Given the description of an element on the screen output the (x, y) to click on. 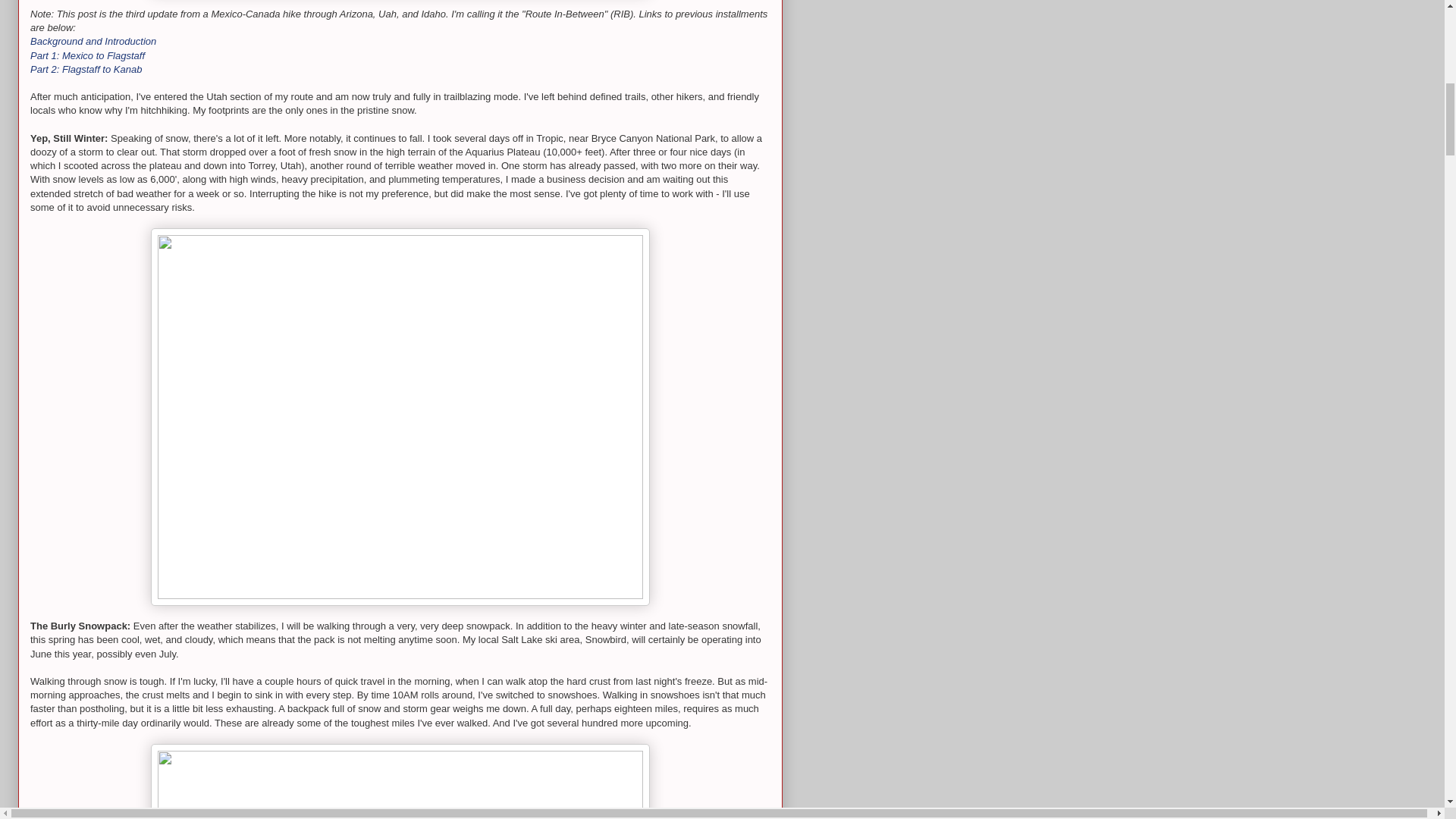
Part 1: Mexico to Flagstaff (87, 55)
Part 2: Flagstaff to Kanab (85, 69)
Background and Introduction (92, 41)
